Given the description of an element on the screen output the (x, y) to click on. 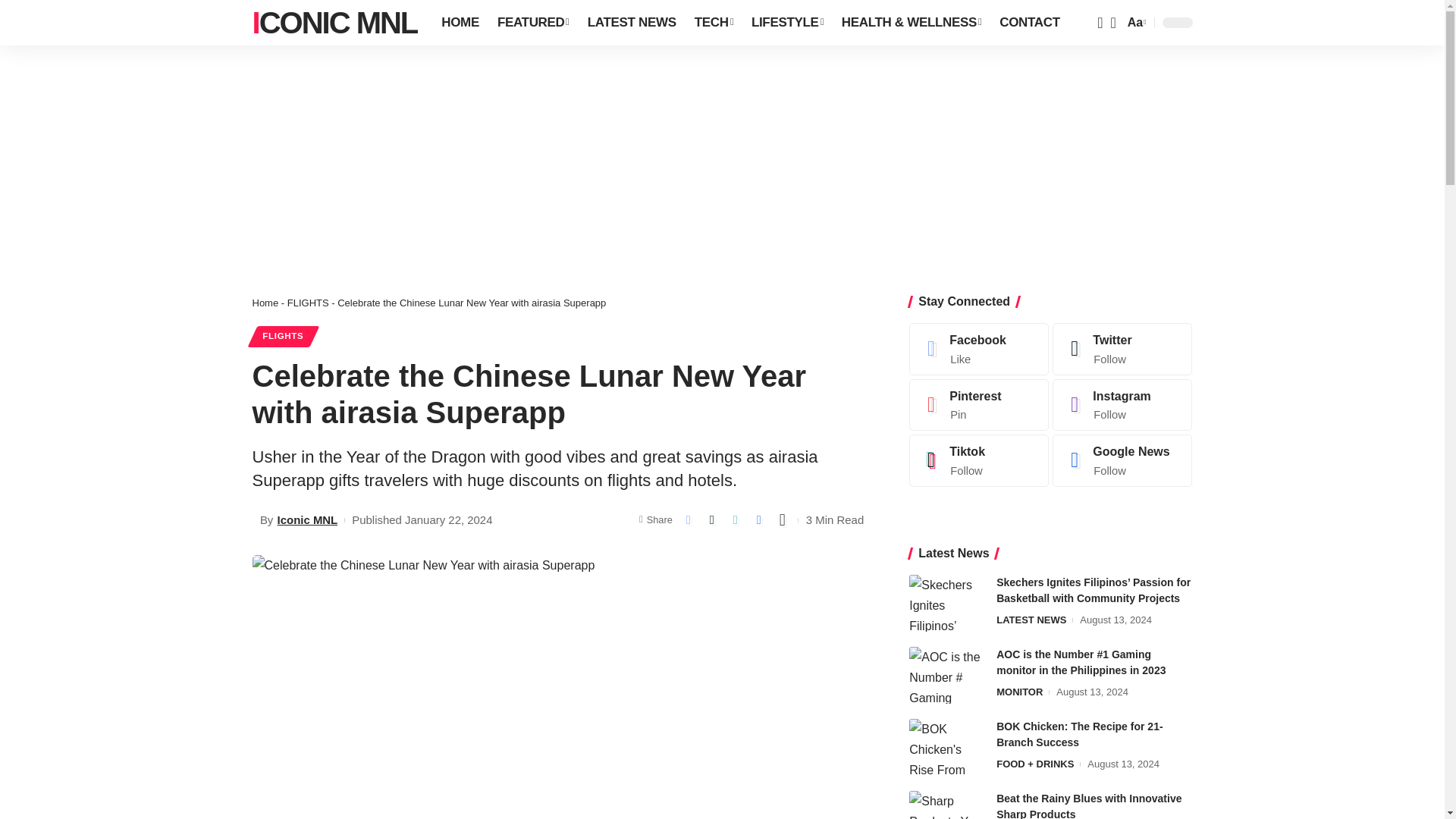
HOME (459, 22)
Iconic MNL (333, 22)
ICONIC MNL (333, 22)
TECH (713, 22)
BOK Chicken: The Recipe for 21-Branch Success (946, 747)
Beat the Rainy Blues with Innovative Sharp Products (946, 805)
LATEST NEWS (631, 22)
FEATURED (532, 22)
LIFESTYLE (787, 22)
